Given the description of an element on the screen output the (x, y) to click on. 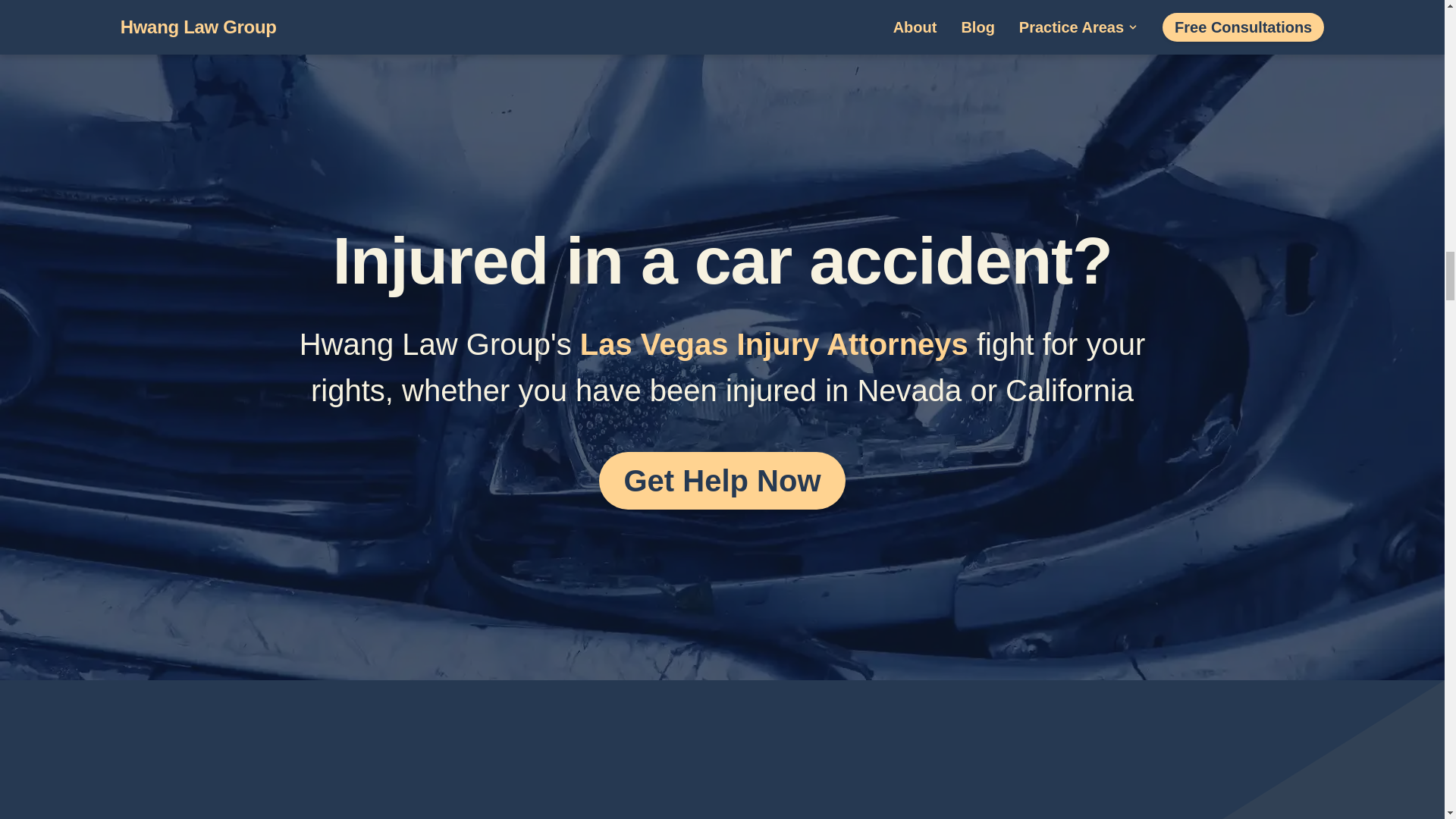
Contact Hwang Law Group (721, 480)
Las Vegas Injury Attorneys (773, 344)
Get Help Now (721, 480)
